Given the description of an element on the screen output the (x, y) to click on. 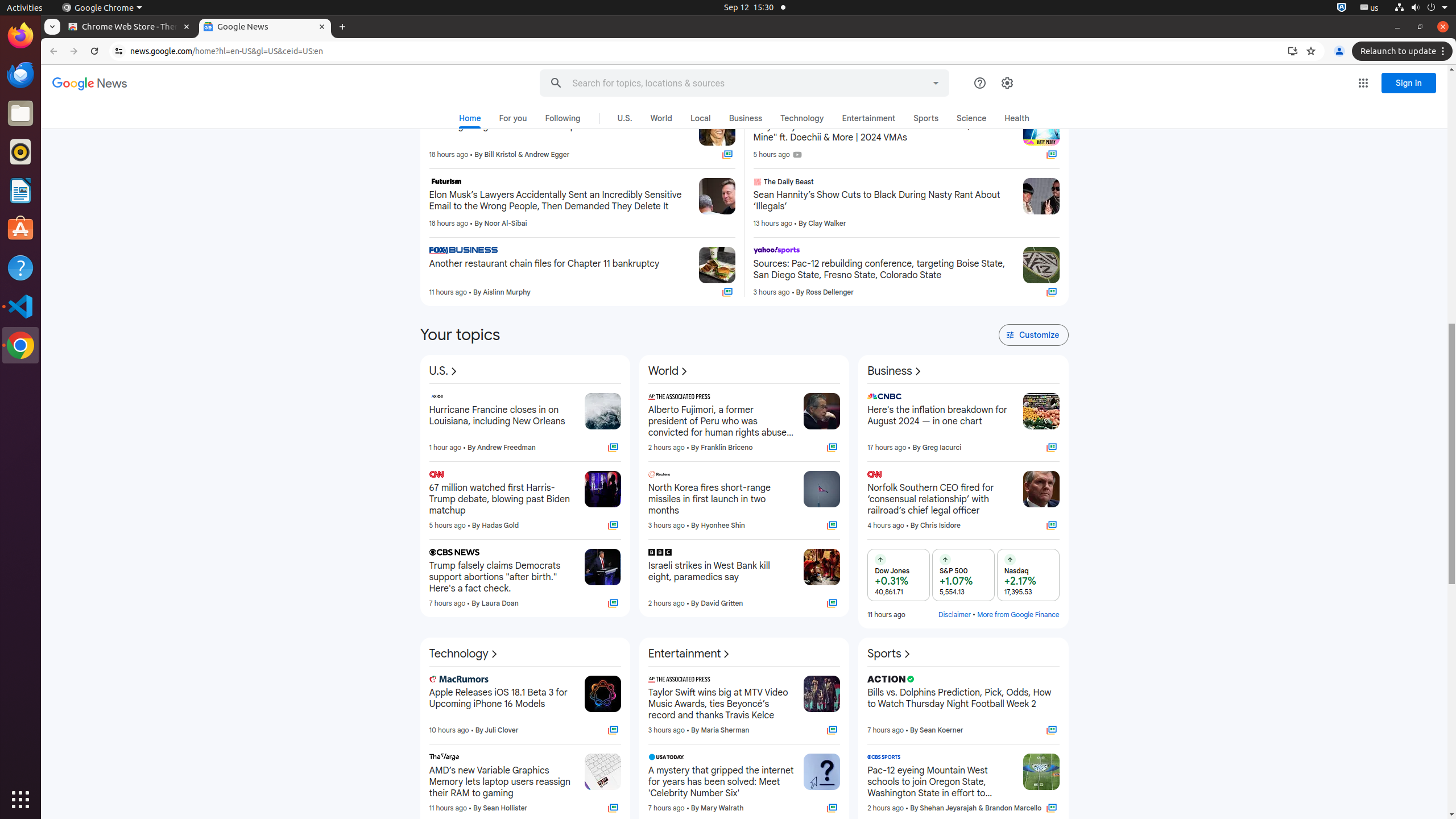
Technology Element type: menu-item (802, 118)
More - Sources: Pac-12 rebuilding conference, targeting Boise State, San Diego State, Fresno State, Colorado State Element type: push-button (1010, 251)
Business Element type: menu-item (745, 118)
Advanced search Element type: push-button (935, 80)
More - Israeli strikes in West Bank kill eight, paramedics say Element type: push-button (791, 553)
